Given the description of an element on the screen output the (x, y) to click on. 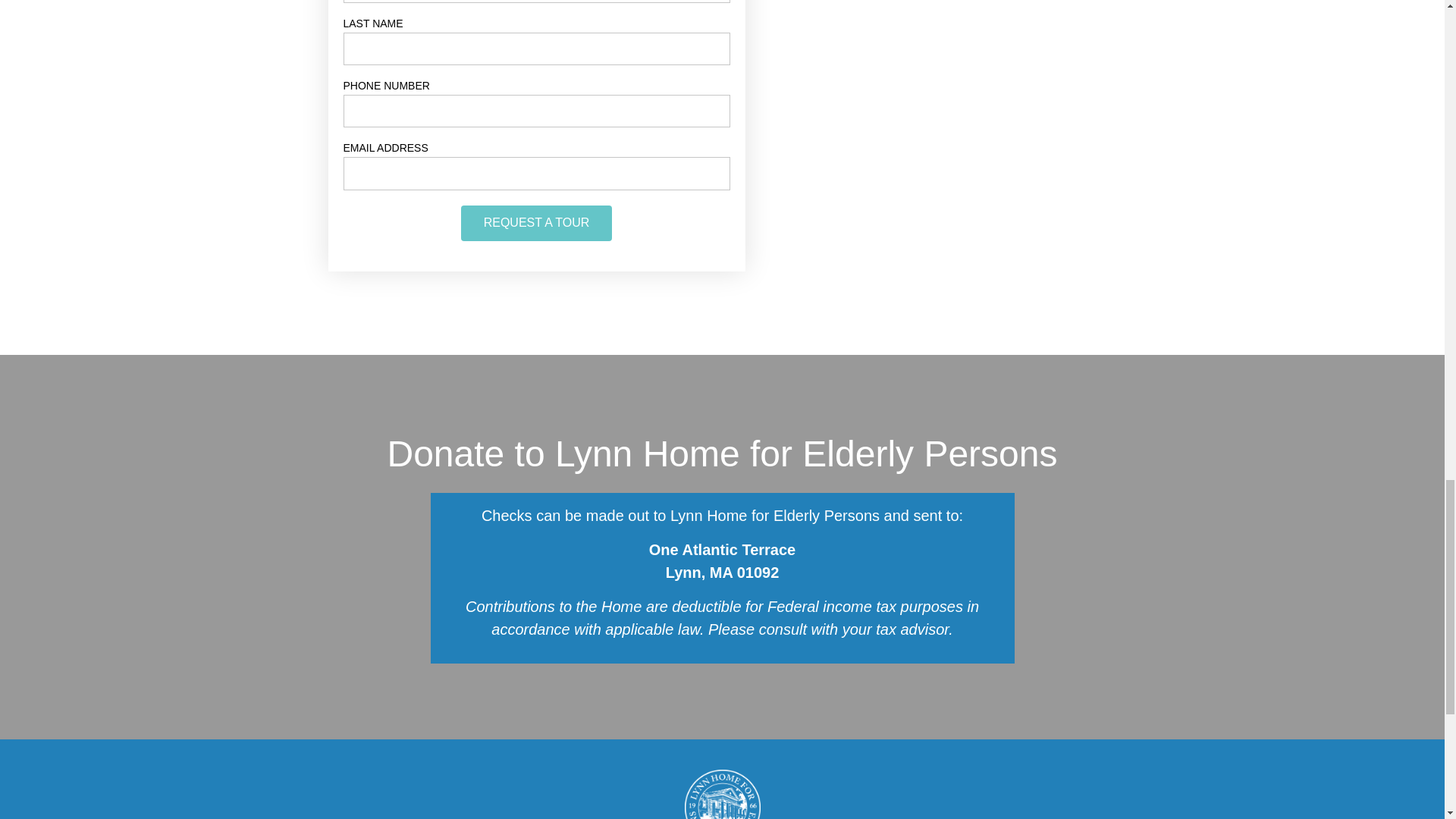
REQUEST A TOUR (536, 222)
